Given the description of an element on the screen output the (x, y) to click on. 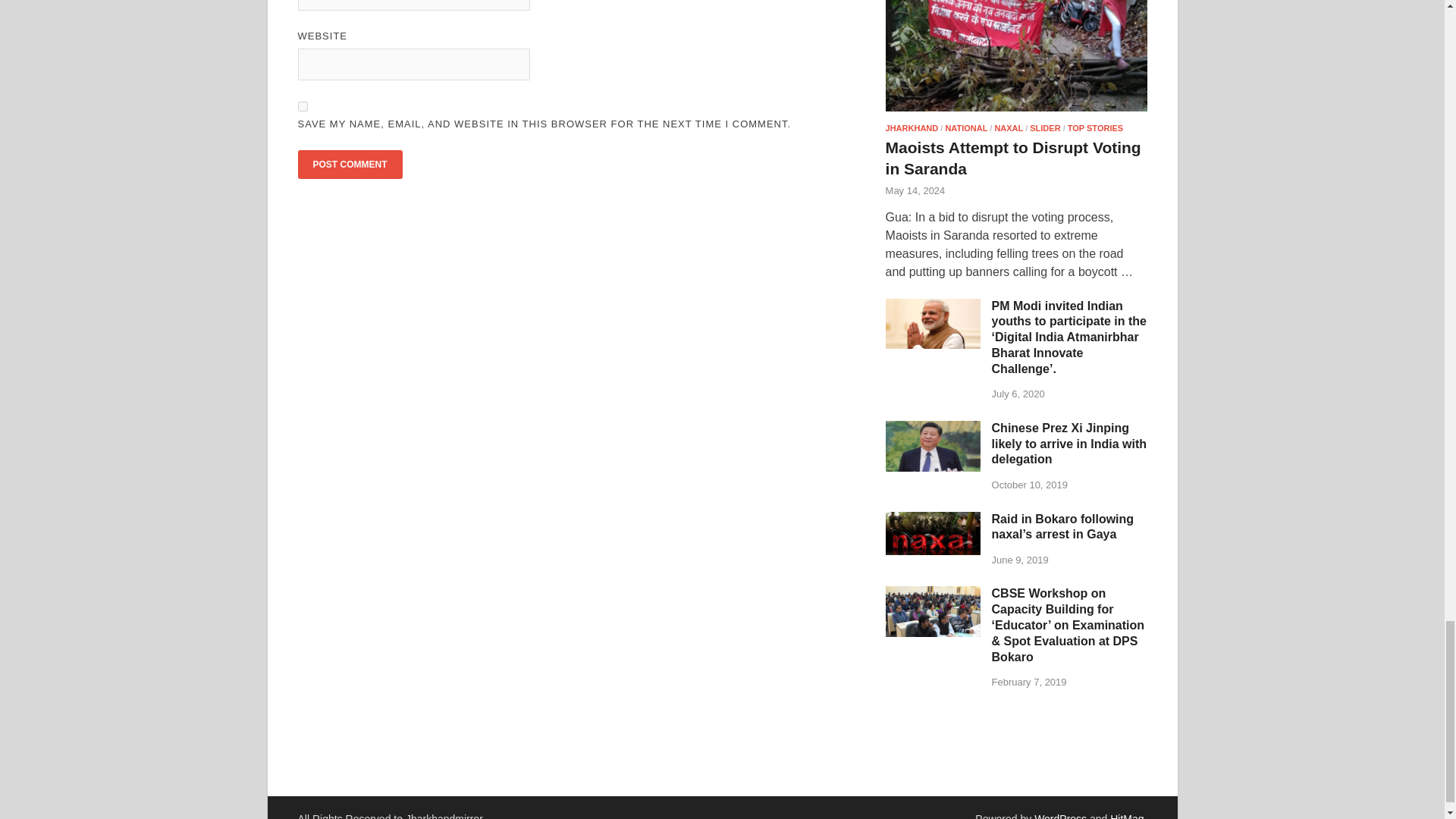
Post Comment (349, 164)
Post Comment (349, 164)
yes (302, 106)
